Given the description of an element on the screen output the (x, y) to click on. 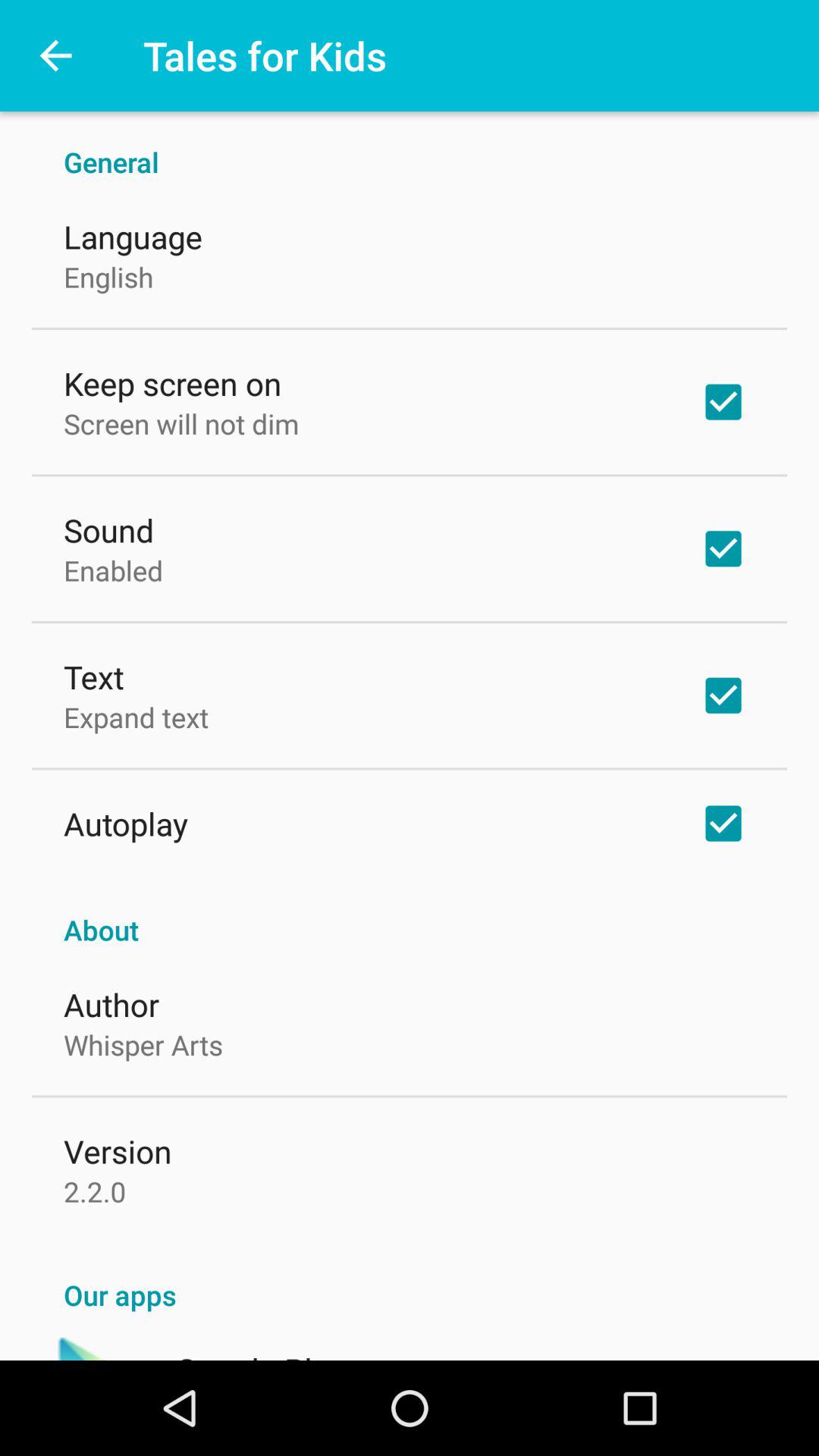
turn on the english (108, 276)
